Given the description of an element on the screen output the (x, y) to click on. 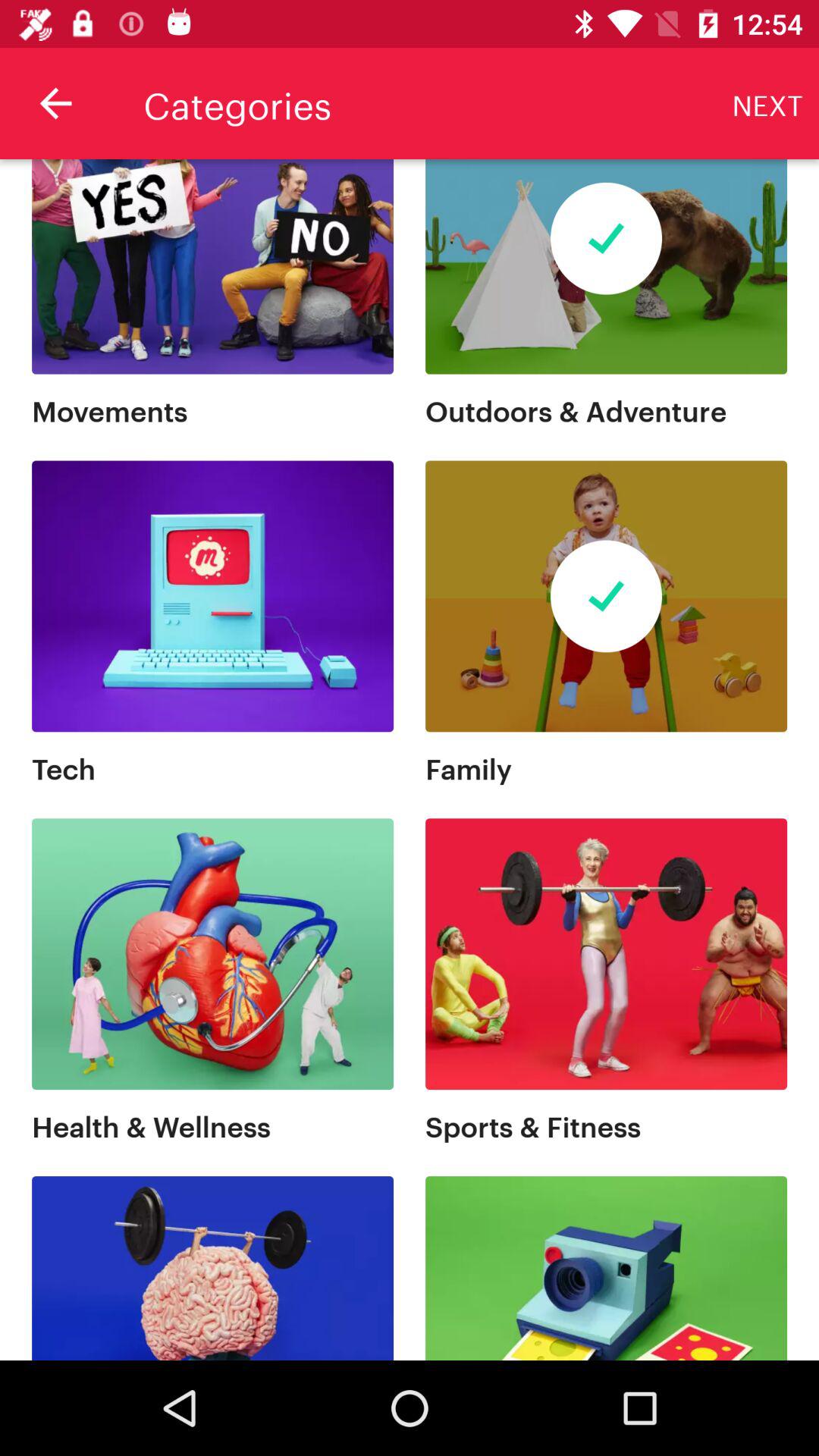
jump to next (767, 103)
